Given the description of an element on the screen output the (x, y) to click on. 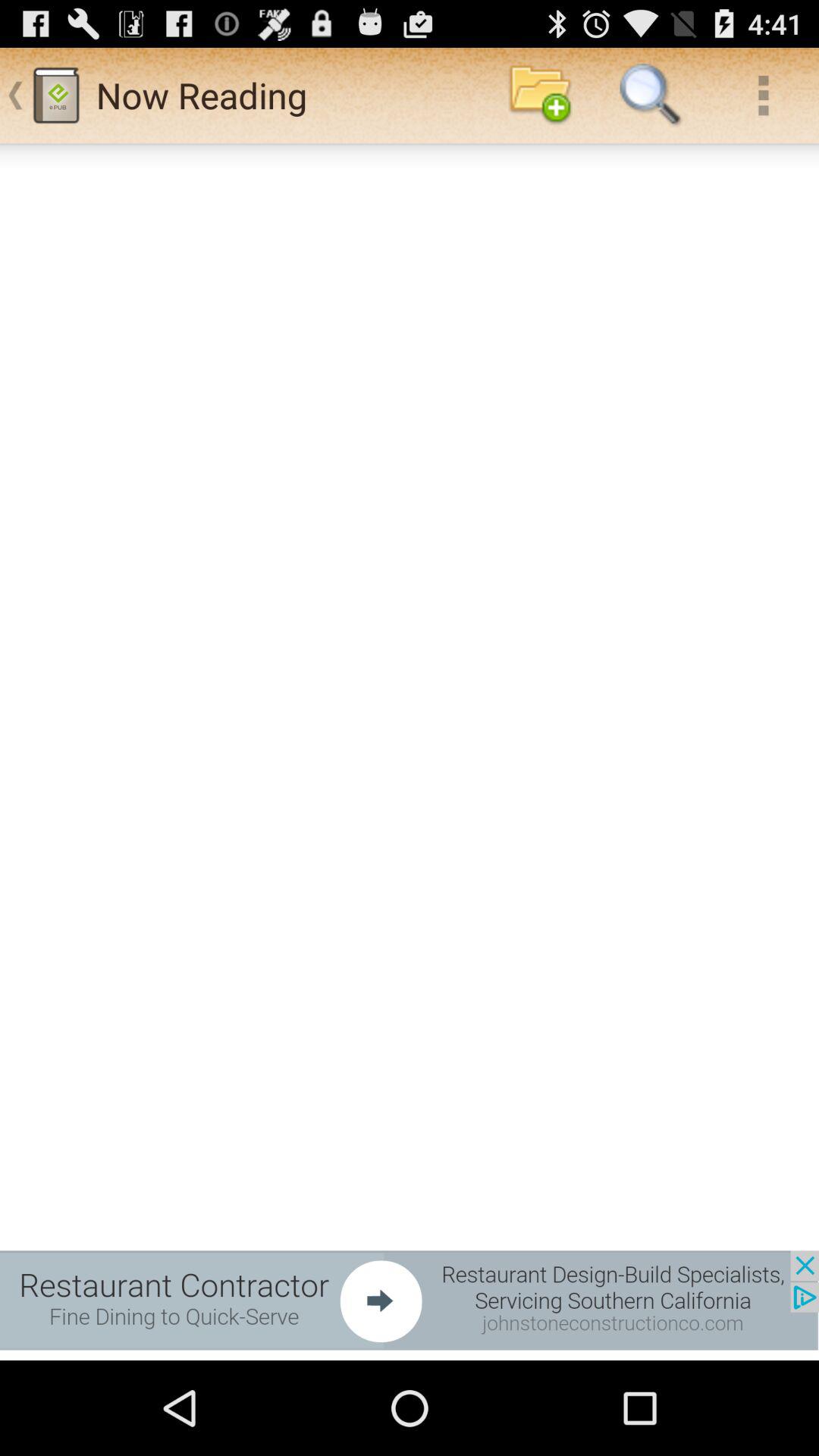
open the item to the right of now reading item (540, 95)
